Given the description of an element on the screen output the (x, y) to click on. 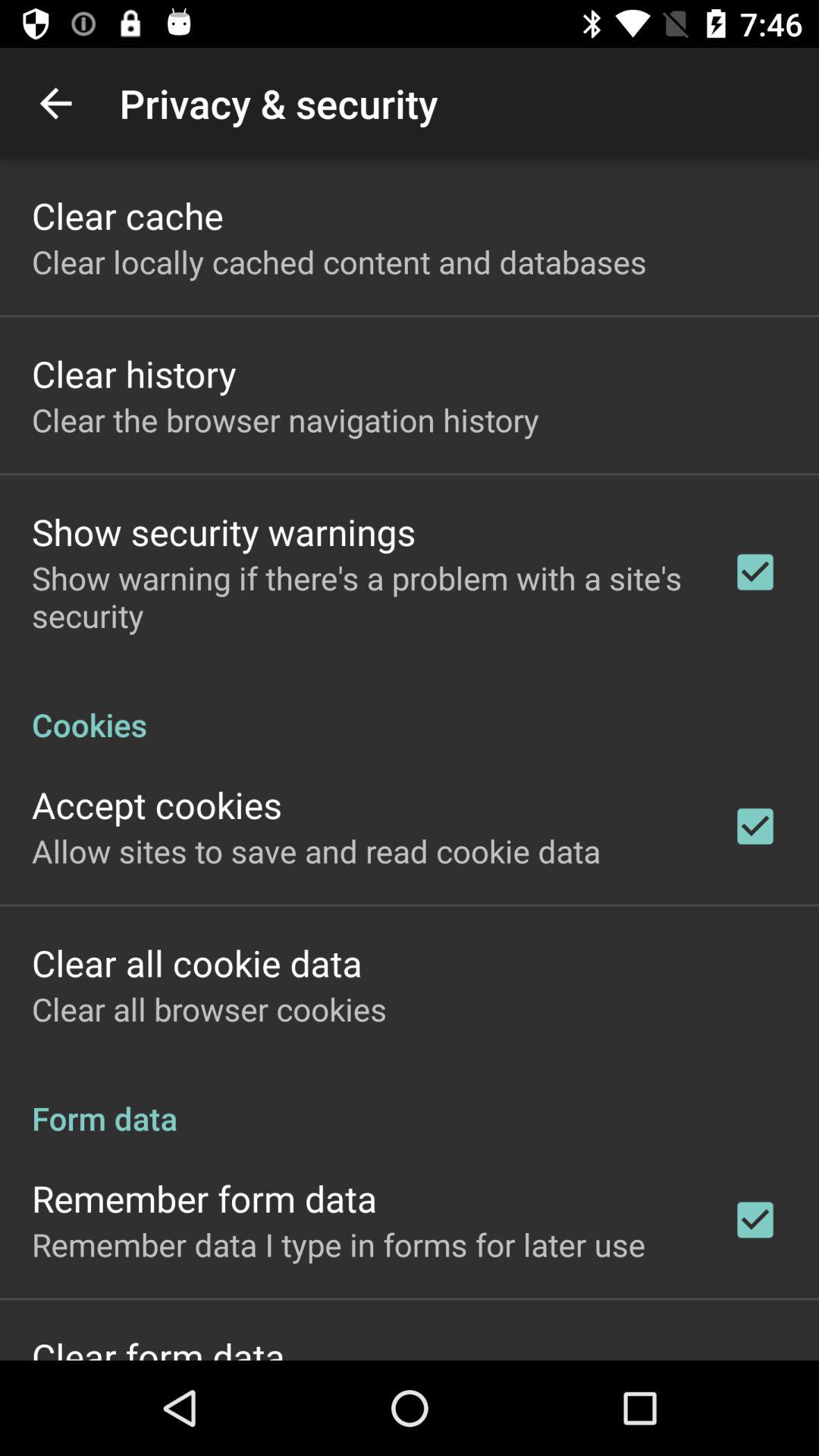
tap show warning if (361, 596)
